Given the description of an element on the screen output the (x, y) to click on. 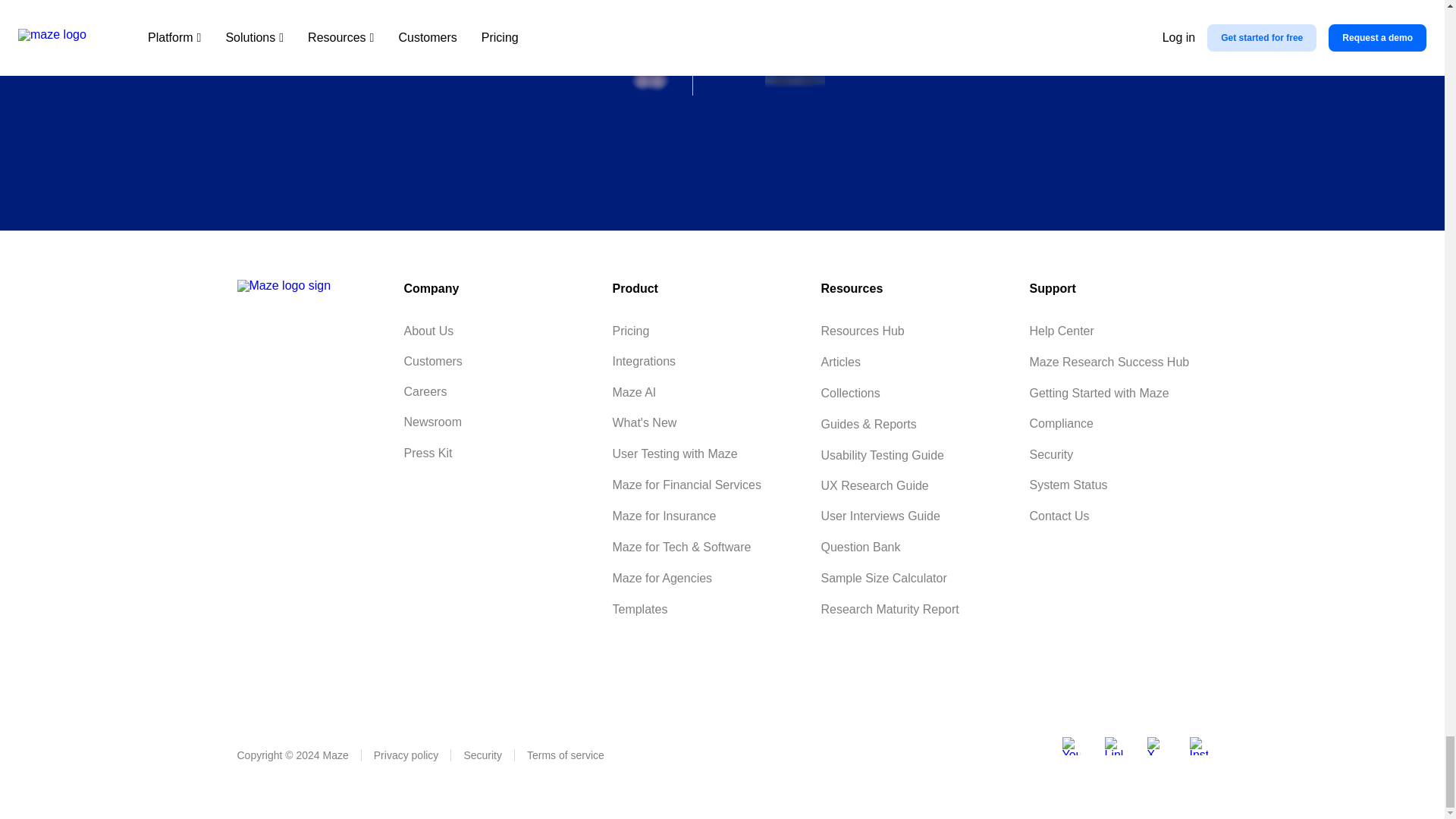
Careers (424, 392)
Linkedin (1112, 746)
Maze (282, 285)
Terms of service (565, 755)
Pricing (630, 331)
About Us (427, 331)
Templates (638, 609)
Research Maturity Report (889, 609)
X (1155, 746)
Maze AI (633, 393)
